Given the description of an element on the screen output the (x, y) to click on. 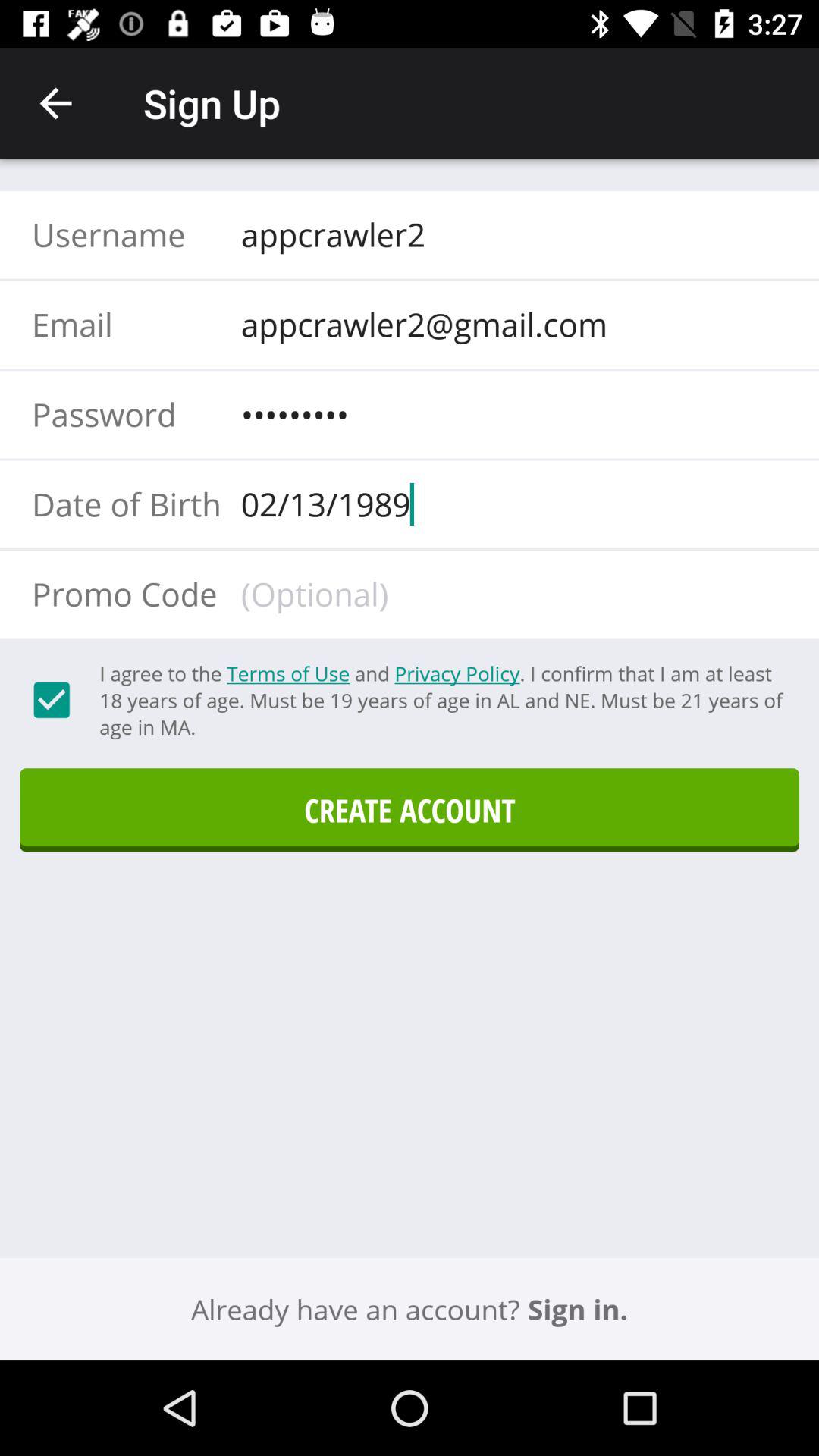
scroll until 02/13/1989 icon (508, 503)
